Given the description of an element on the screen output the (x, y) to click on. 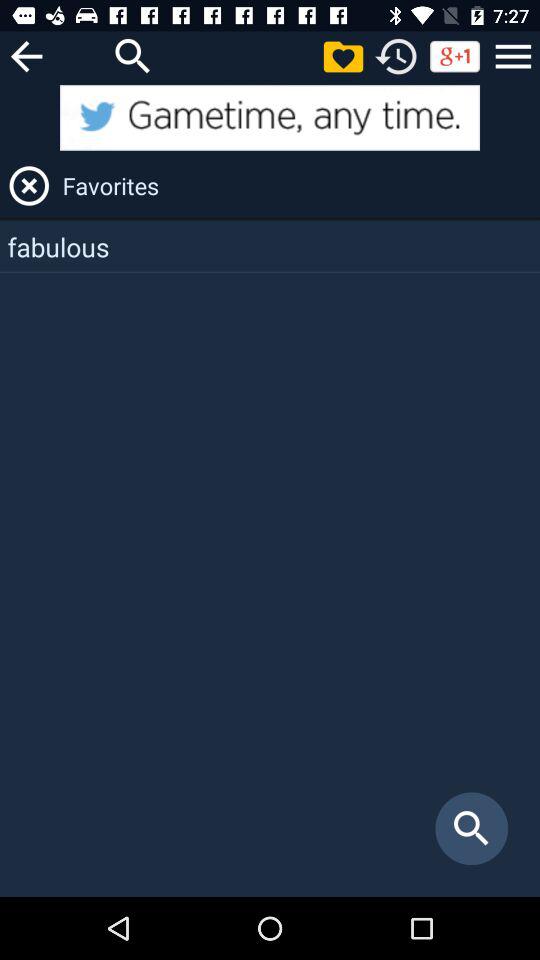
turn on the fabulous item (270, 246)
